Given the description of an element on the screen output the (x, y) to click on. 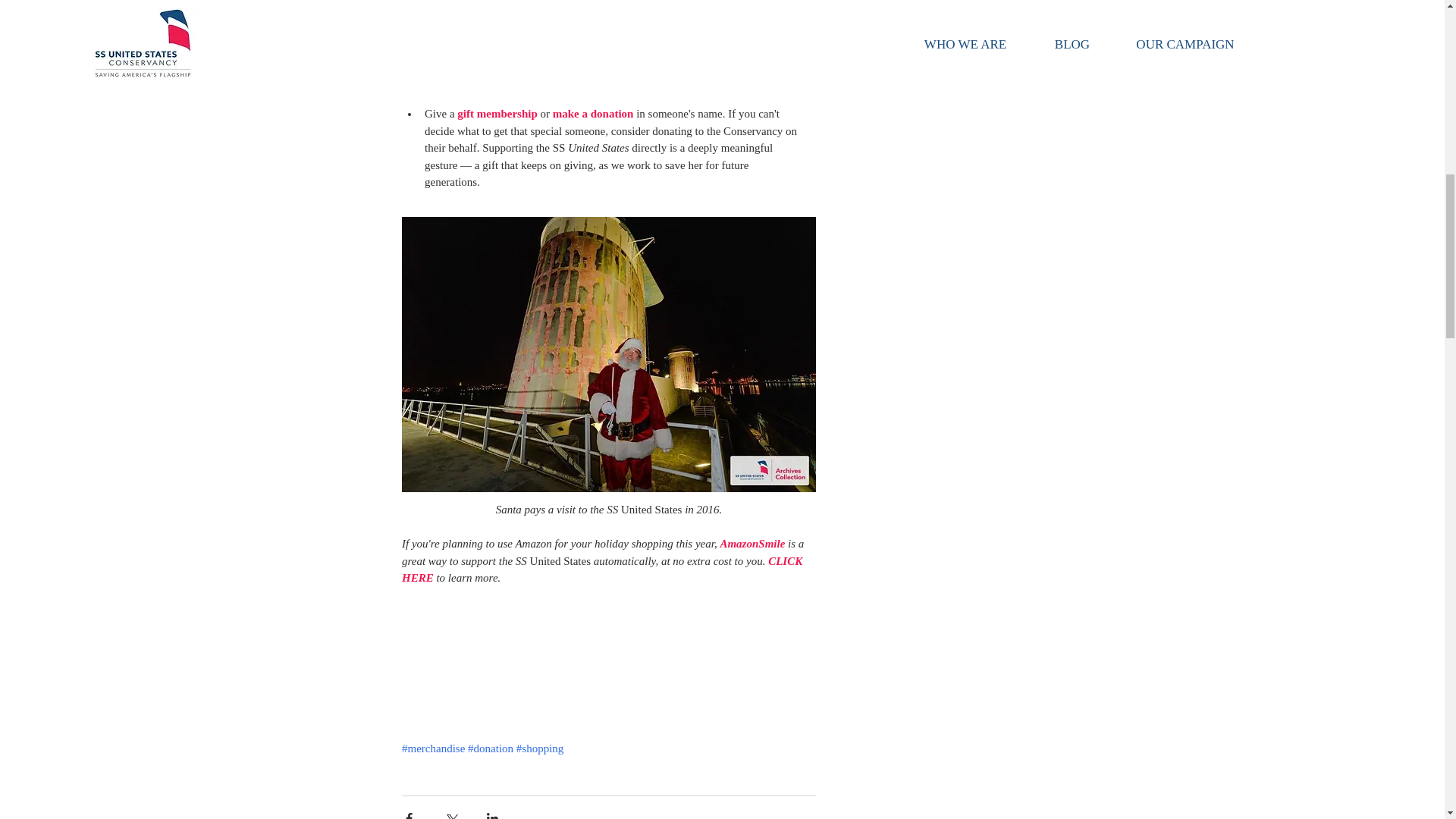
gift membership (497, 113)
AmazonSmile (751, 543)
CafePress store (669, 28)
CLICK HERE (603, 569)
keep America's Flagship afloat (499, 79)
make a donation (592, 113)
